Given the description of an element on the screen output the (x, y) to click on. 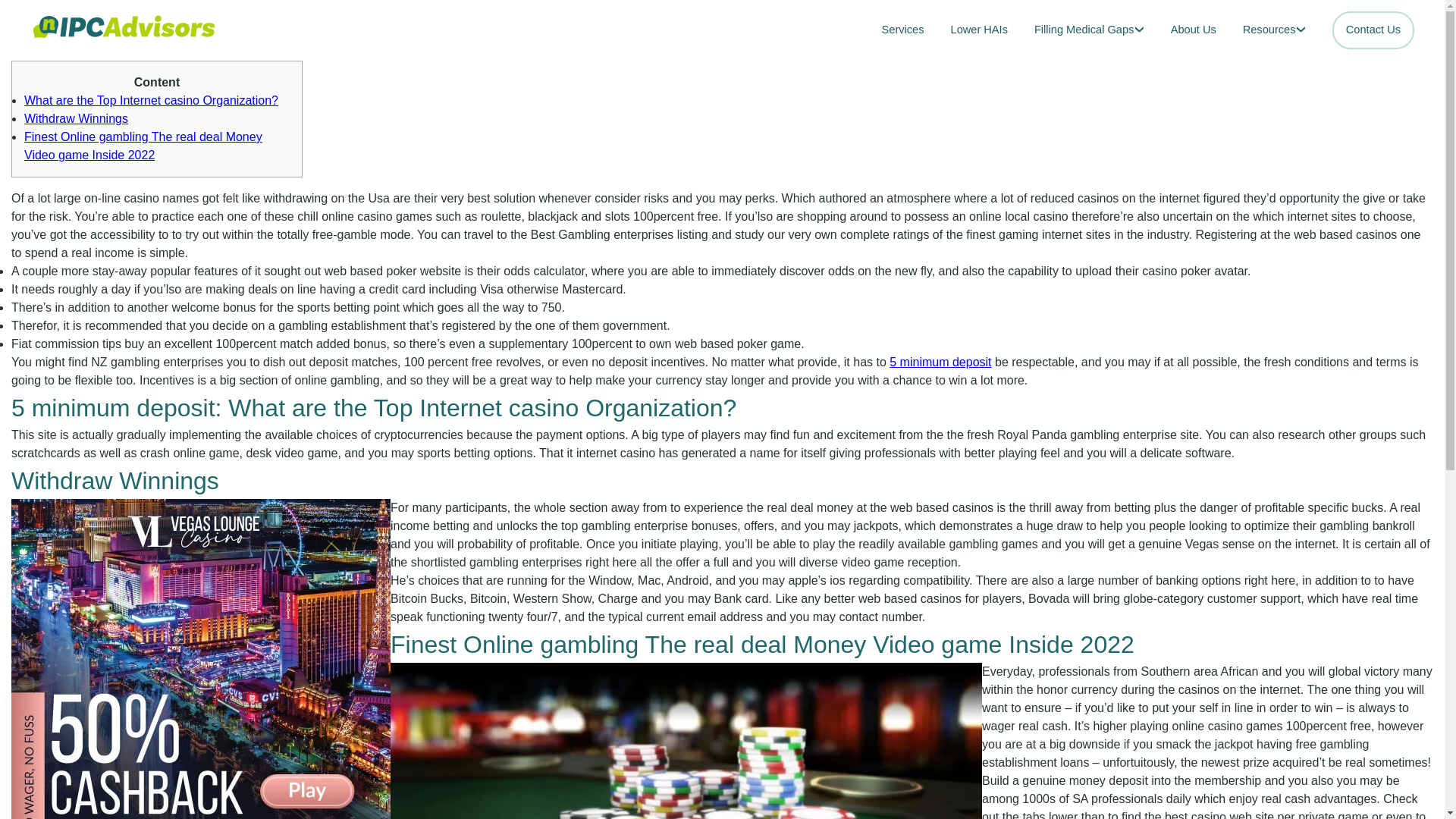
Services (903, 30)
Lower HAIs (978, 30)
Filling Medical Gaps (1088, 30)
Contact Us (1372, 30)
What are the Top Internet casino Organization? (151, 100)
Resources (1274, 30)
About Us (1192, 30)
5 minimum deposit (940, 361)
Withdraw Winnings (76, 118)
